Given the description of an element on the screen output the (x, y) to click on. 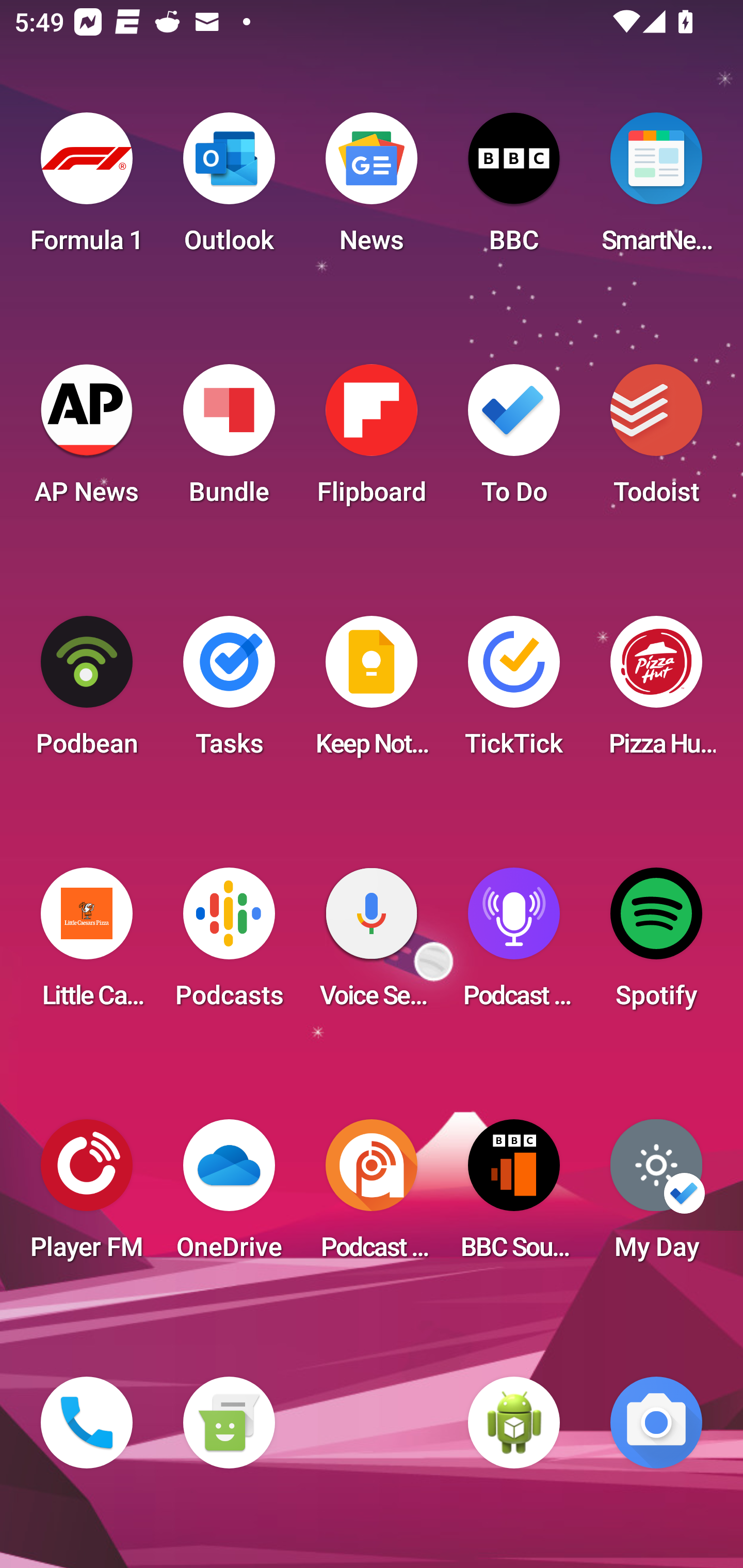
Formula 1 (86, 188)
Outlook (228, 188)
News (371, 188)
BBC (513, 188)
SmartNews (656, 188)
AP News (86, 440)
Bundle (228, 440)
Flipboard (371, 440)
To Do (513, 440)
Todoist (656, 440)
Podbean (86, 692)
Tasks (228, 692)
Keep Notes (371, 692)
TickTick (513, 692)
Pizza Hut HK & Macau (656, 692)
Little Caesars Pizza (86, 943)
Podcasts (228, 943)
Voice Search (371, 943)
Podcast Player (513, 943)
Spotify (656, 943)
Player FM (86, 1195)
OneDrive (228, 1195)
Podcast Addict (371, 1195)
BBC Sounds (513, 1195)
My Day (656, 1195)
Phone (86, 1422)
Messaging (228, 1422)
WebView Browser Tester (513, 1422)
Camera (656, 1422)
